Given the description of an element on the screen output the (x, y) to click on. 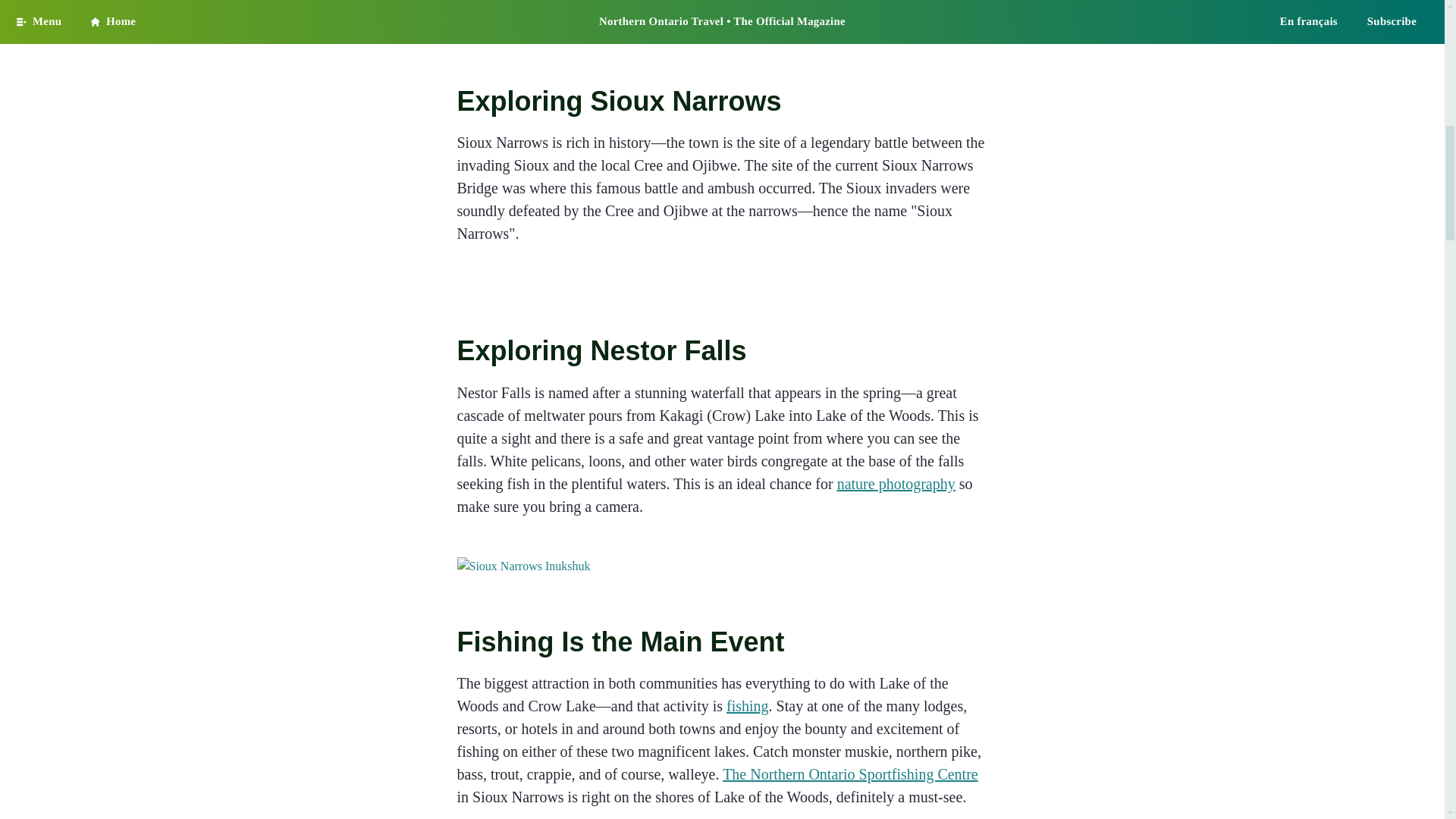
Information on visiting Sioux Narrows (722, 566)
Fishing Lake of the Woods and Crow Lake (747, 705)
nature photography opportunites (896, 483)
